Given the description of an element on the screen output the (x, y) to click on. 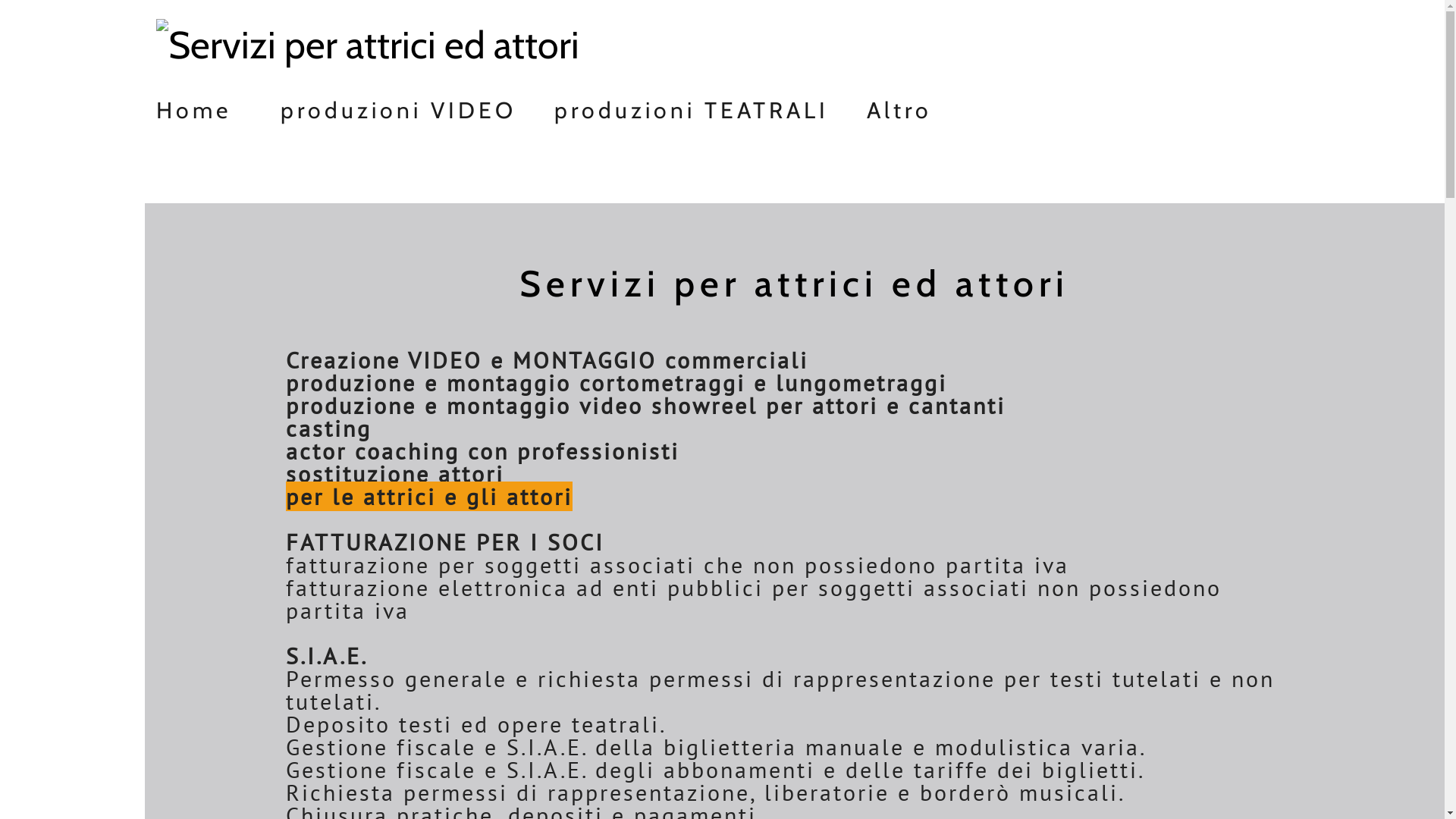
produzioni VIDEO Element type: text (397, 105)
Altro Element type: text (898, 105)
Home Element type: text (208, 105)
produzioni TEATRALI Element type: text (691, 105)
